Given the description of an element on the screen output the (x, y) to click on. 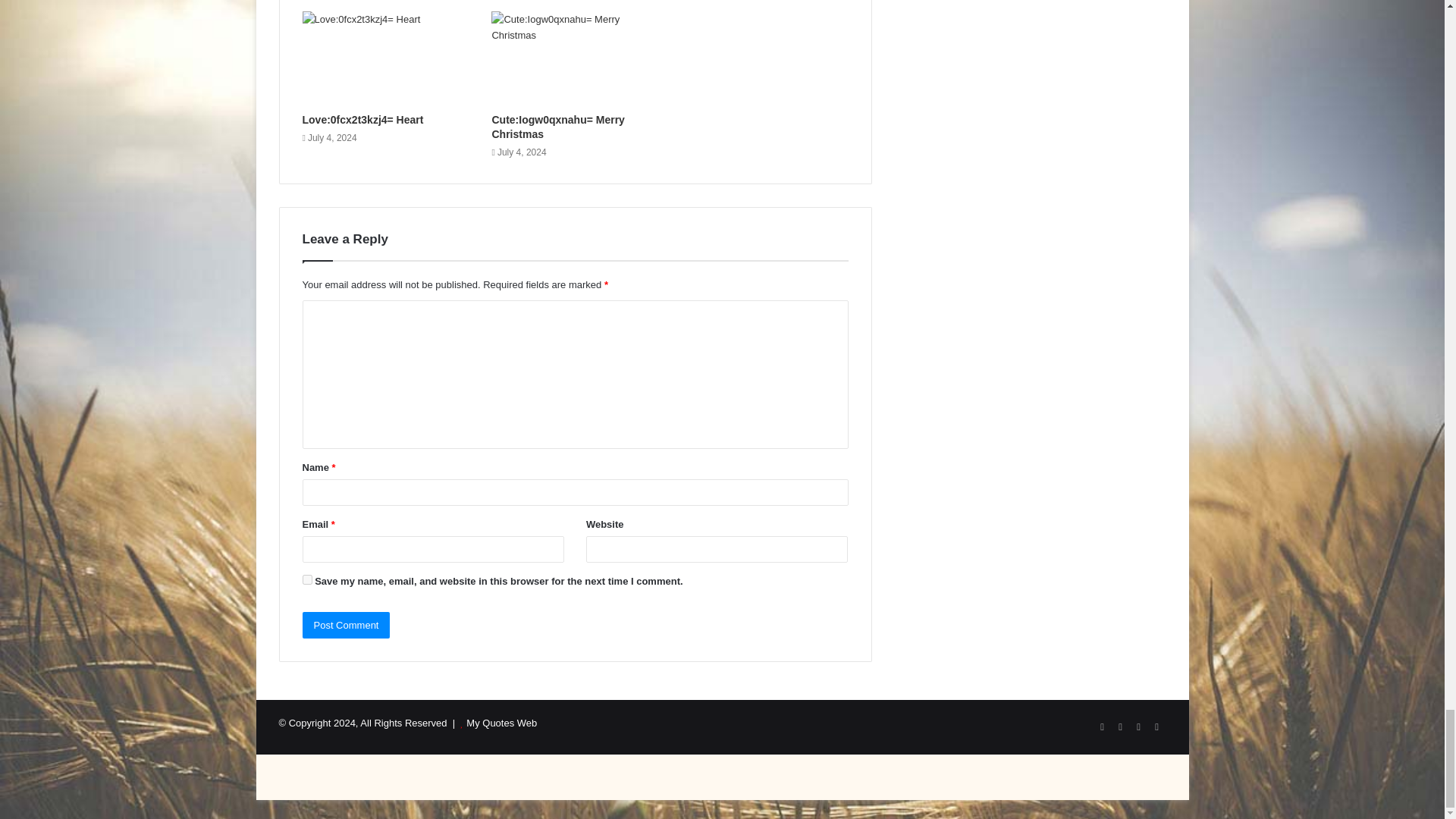
Post Comment (345, 624)
yes (306, 579)
